Given the description of an element on the screen output the (x, y) to click on. 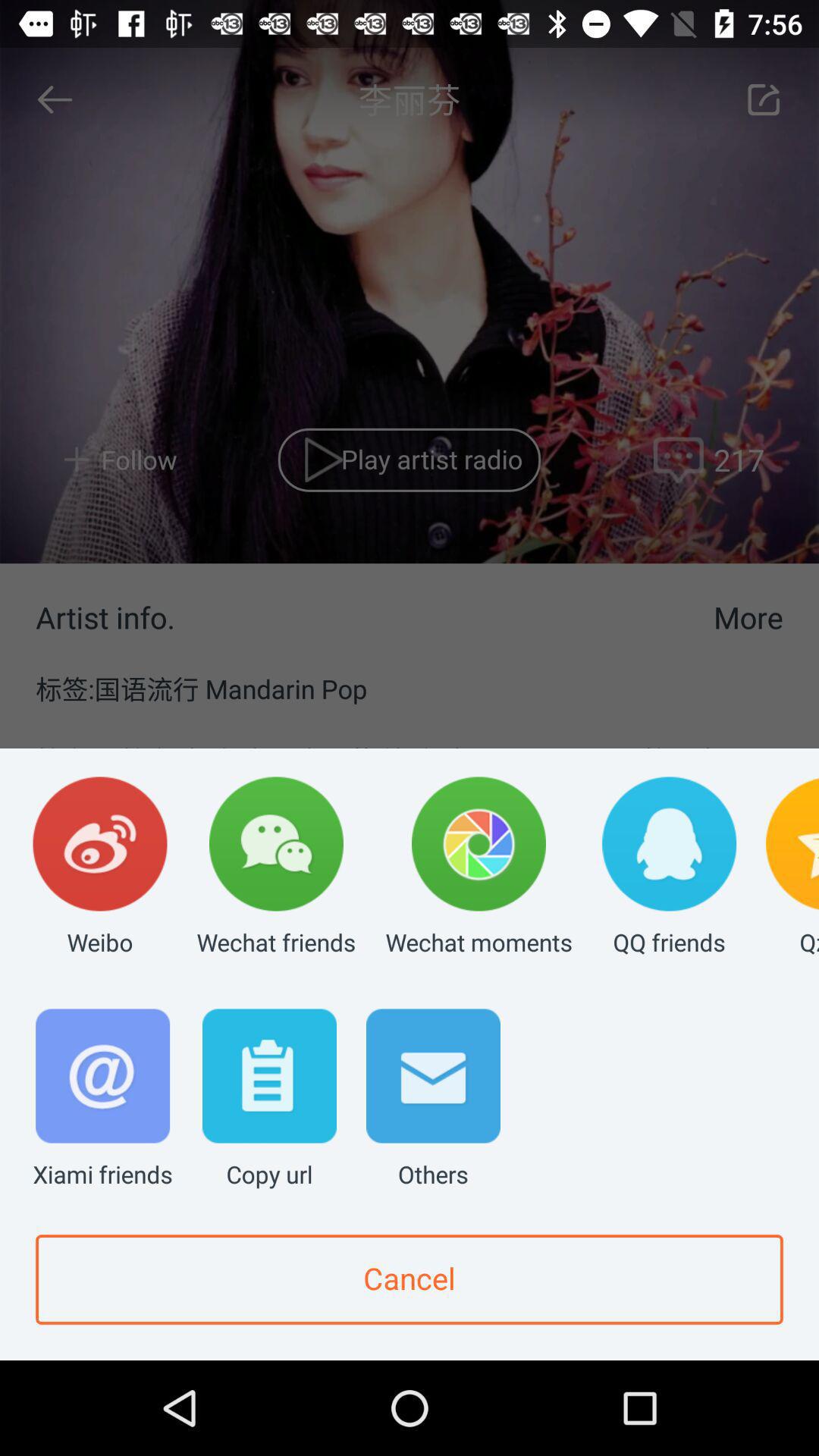
tap icon to the left of the others item (269, 1099)
